Given the description of an element on the screen output the (x, y) to click on. 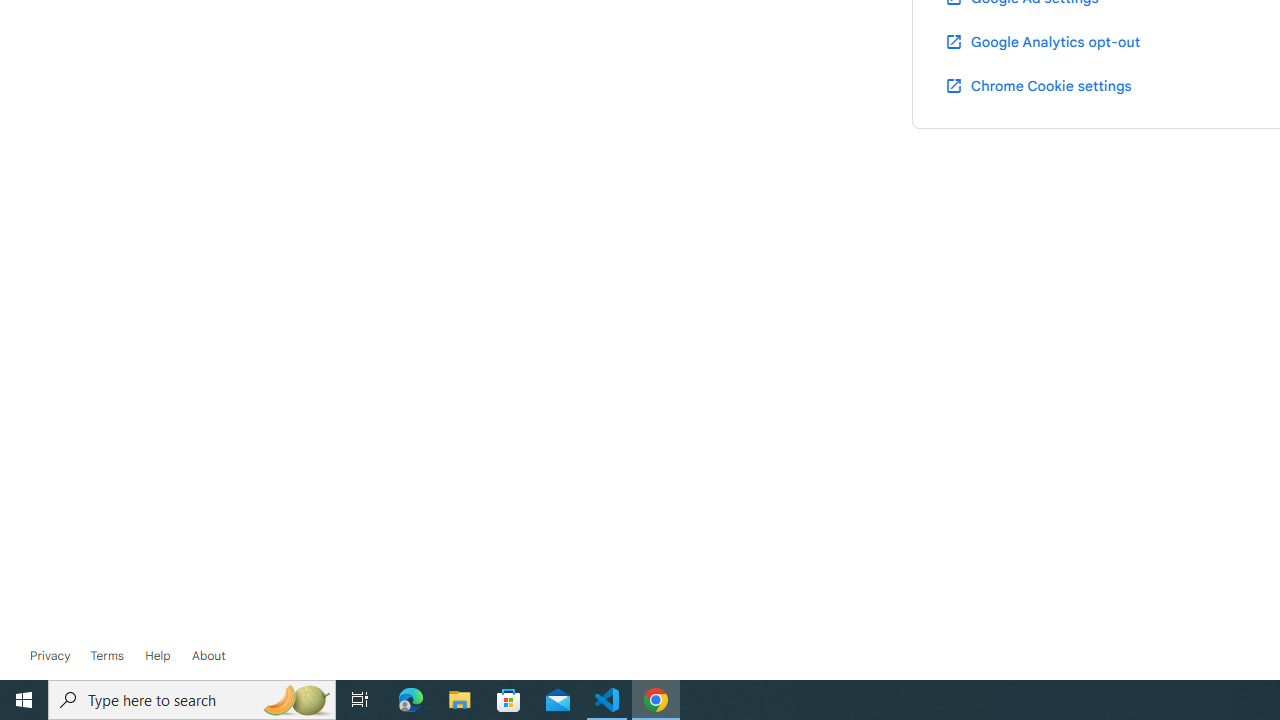
Privacy (50, 655)
Learn more about Google Account (208, 655)
Help (158, 655)
Google Analytics opt-out (1041, 41)
Terms (106, 655)
Chrome Cookie settings (1037, 85)
